Given the description of an element on the screen output the (x, y) to click on. 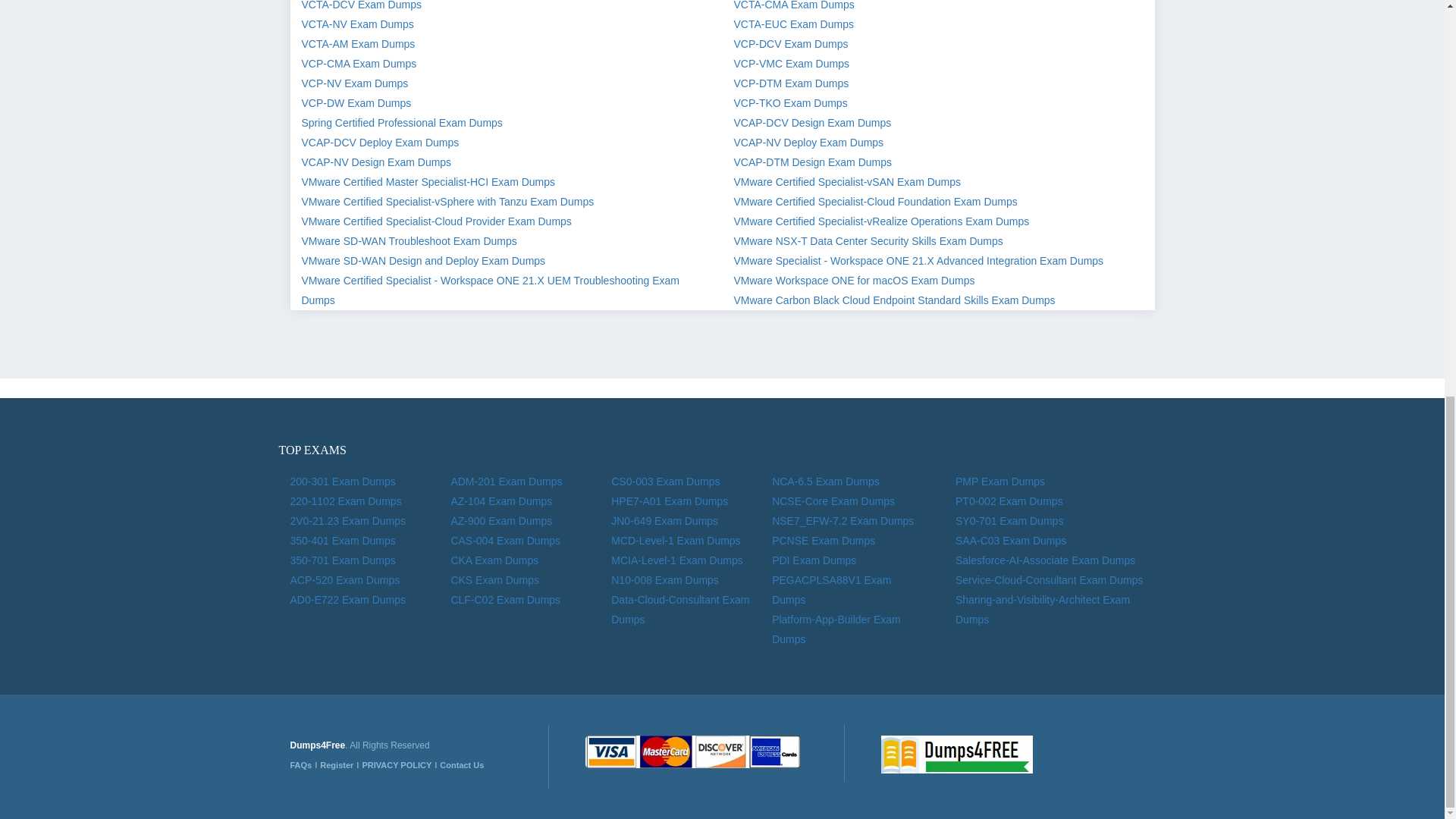
VCAP-DTM Design Exam Dumps (812, 162)
VCAP-NV Deploy Exam Dumps (808, 142)
VCAP-DCV Deploy Exam Dumps (380, 142)
VMware Certified Specialist-vRealize Operations Exam Dumps (881, 221)
VMware SD-WAN Troubleshoot Exam Dumps (408, 241)
VCP-DCV Exam Dumps (790, 43)
VMware NSX-T Data Center Security Skills Exam Dumps (868, 241)
VCP-VMC Exam Dumps (790, 63)
VCP-DW Exam Dumps (356, 102)
VCTA-NV Exam Dumps (357, 24)
VMware SD-WAN Design and Deploy Exam Dumps (423, 260)
VCP-CMA Exam Dumps (358, 63)
VCAP-DCV Design Exam Dumps (812, 122)
VCAP-NV Design Exam Dumps (376, 162)
